Given the description of an element on the screen output the (x, y) to click on. 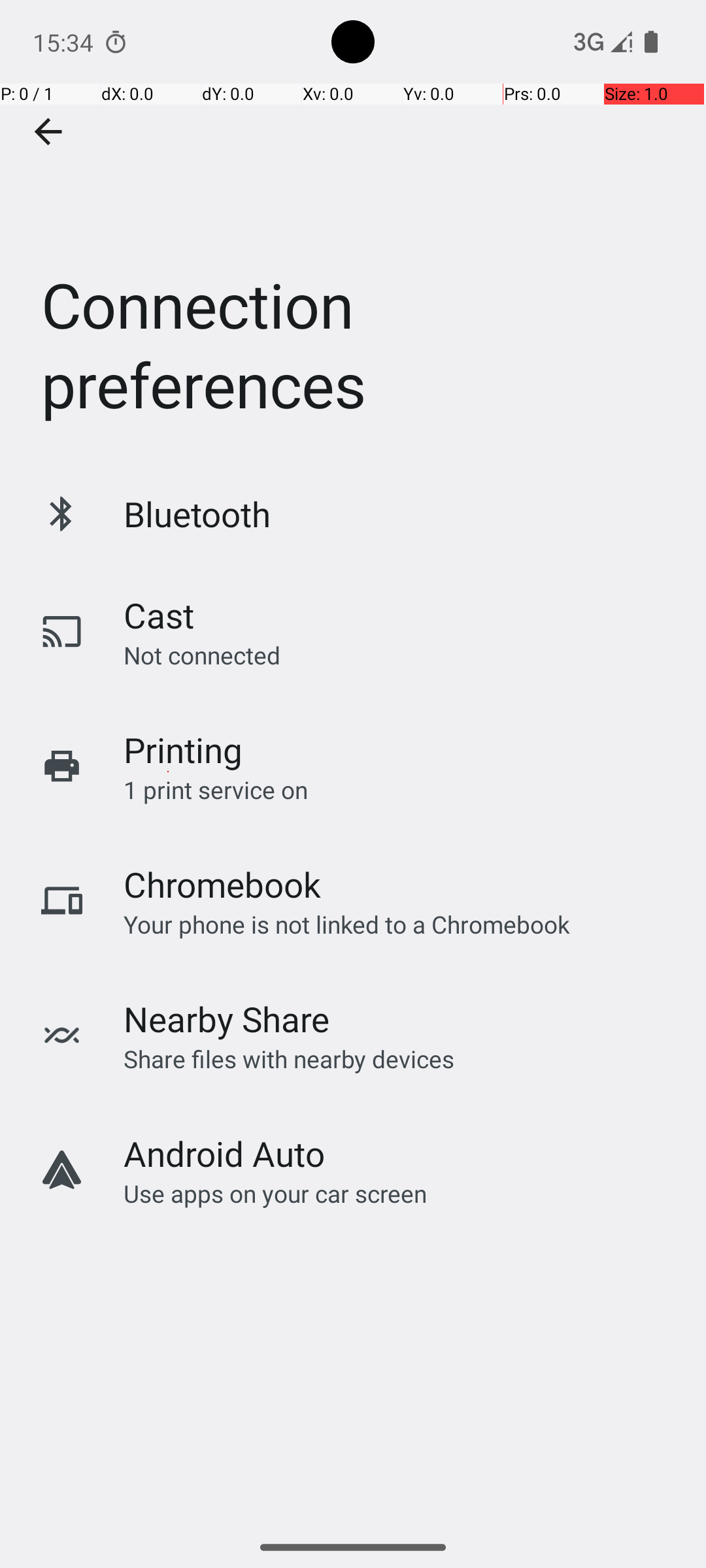
Cast Element type: android.widget.TextView (158, 614)
Not connected Element type: android.widget.TextView (201, 654)
Printing Element type: android.widget.TextView (182, 749)
1 print service on Element type: android.widget.TextView (215, 789)
Chromebook Element type: android.widget.TextView (222, 884)
Your phone is not linked to a Chromebook Element type: android.widget.TextView (346, 923)
Share files with nearby devices Element type: android.widget.TextView (288, 1058)
Use apps on your car screen Element type: android.widget.TextView (275, 1192)
